Given the description of an element on the screen output the (x, y) to click on. 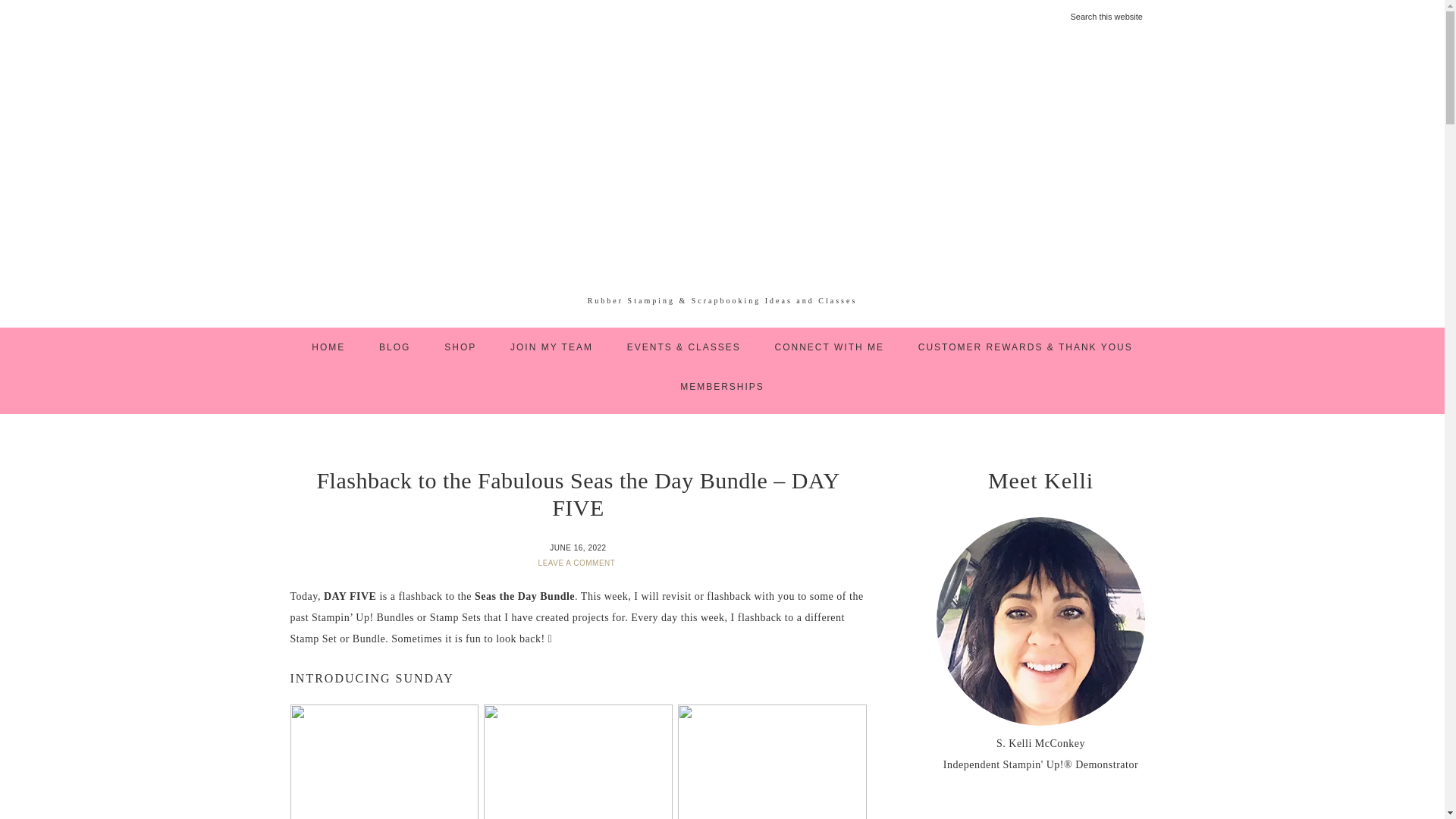
LEAVE A COMMENT (578, 562)
JOIN MY TEAM (551, 346)
HOME (328, 346)
SHOP (460, 346)
BLOG (394, 346)
CONNECT WITH ME (829, 346)
MEMBERSHIPS (721, 386)
